Given the description of an element on the screen output the (x, y) to click on. 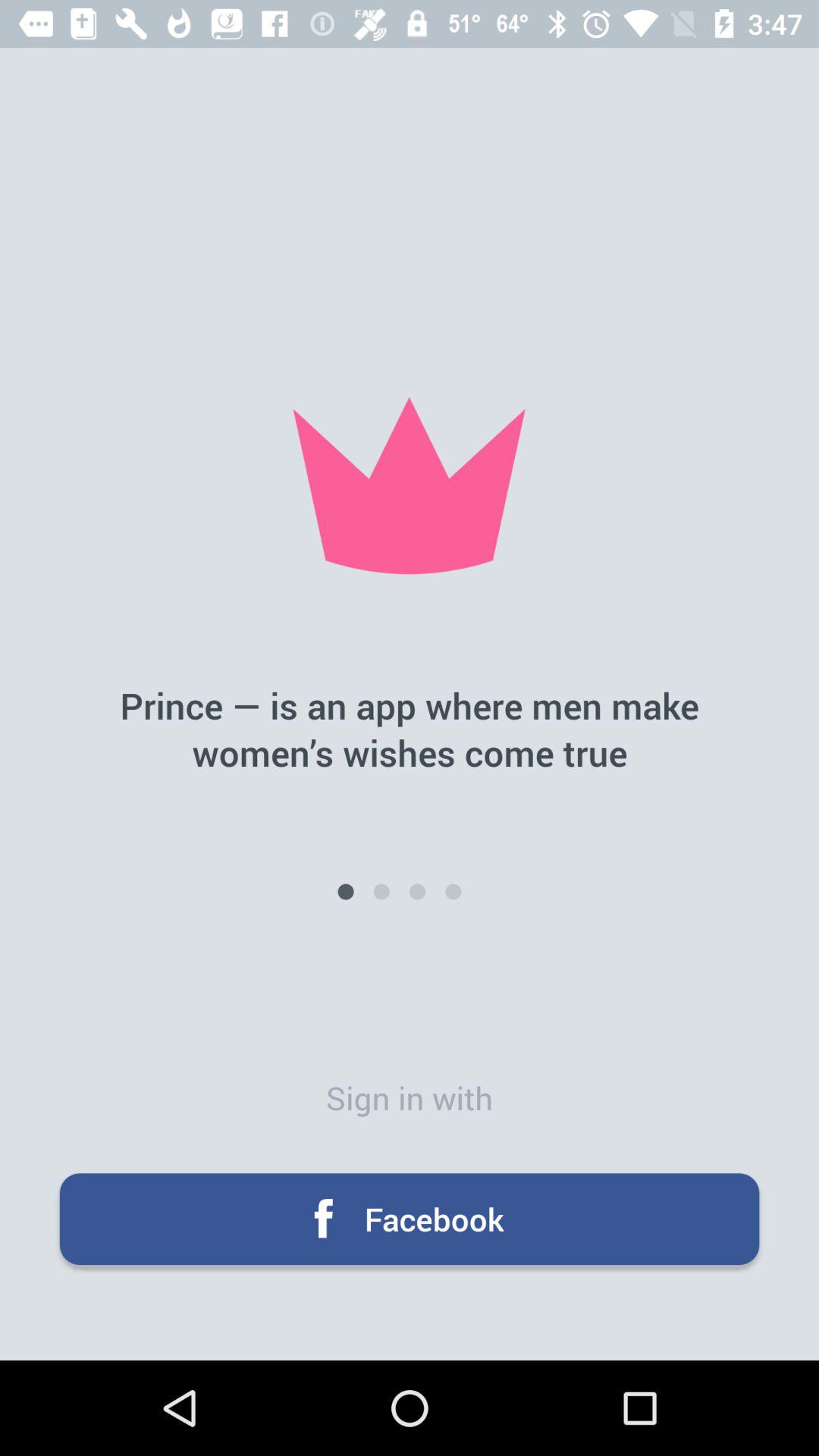
select the icon below prince is an (381, 891)
